Given the description of an element on the screen output the (x, y) to click on. 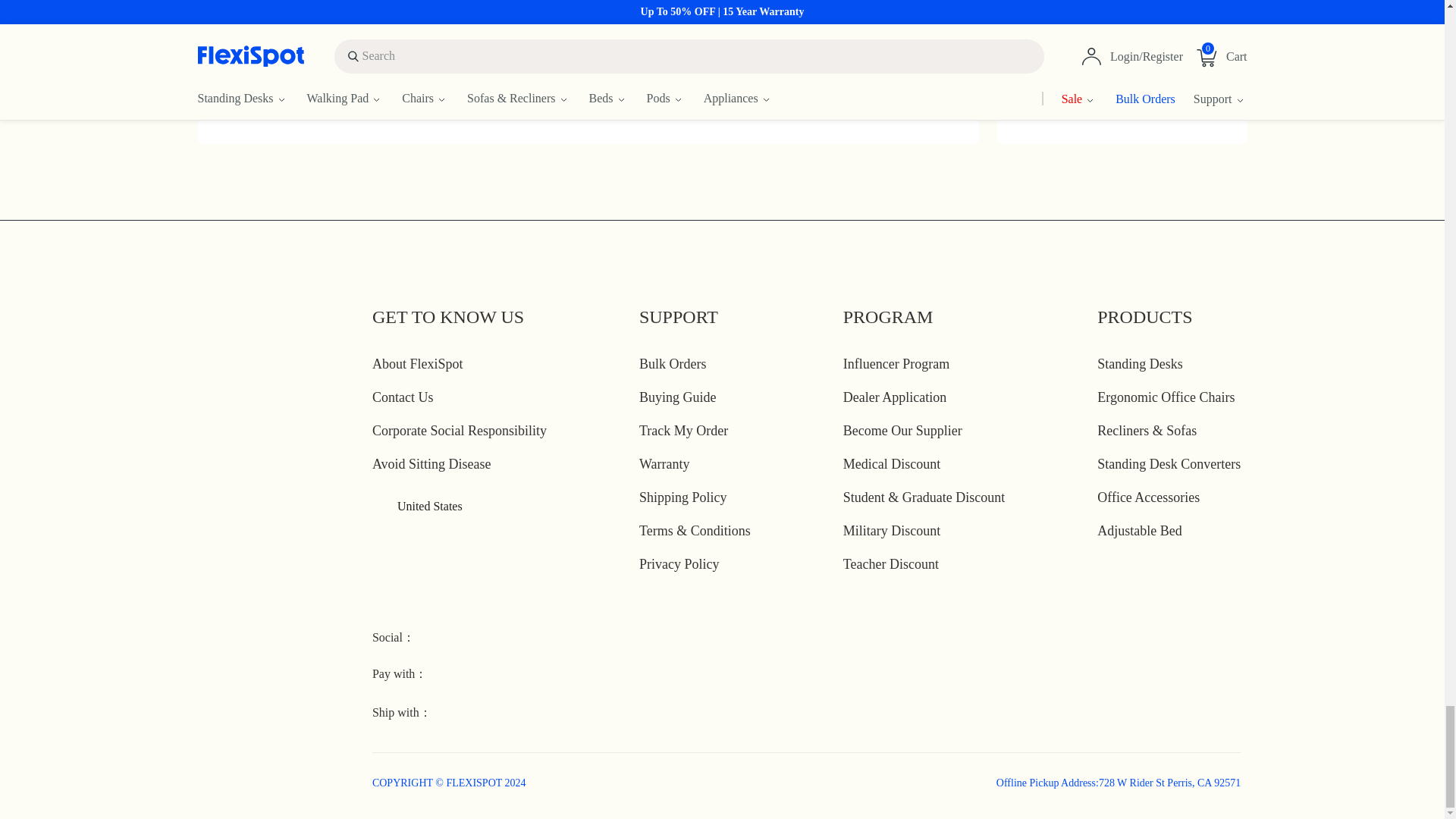
Track My Order (683, 430)
Avoid Sitting Disease (432, 463)
About FlexiSpot (417, 363)
Bulk Orders (672, 363)
Corporate Social Responsibility (459, 430)
Buying Guide (677, 396)
Contact Us (402, 396)
Warranty (664, 463)
